Given the description of an element on the screen output the (x, y) to click on. 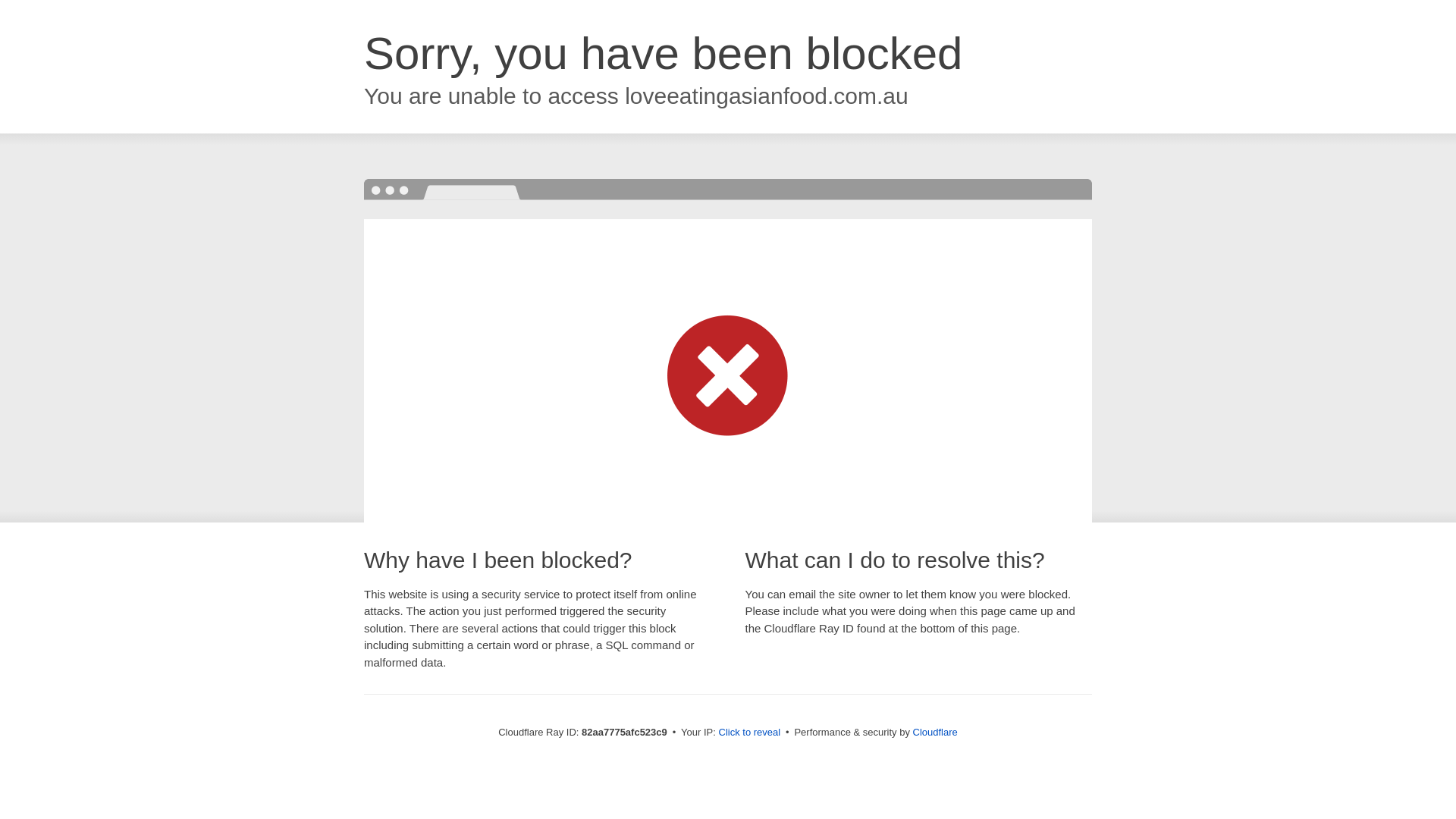
Click to reveal Element type: text (749, 732)
Cloudflare Element type: text (935, 731)
